Given the description of an element on the screen output the (x, y) to click on. 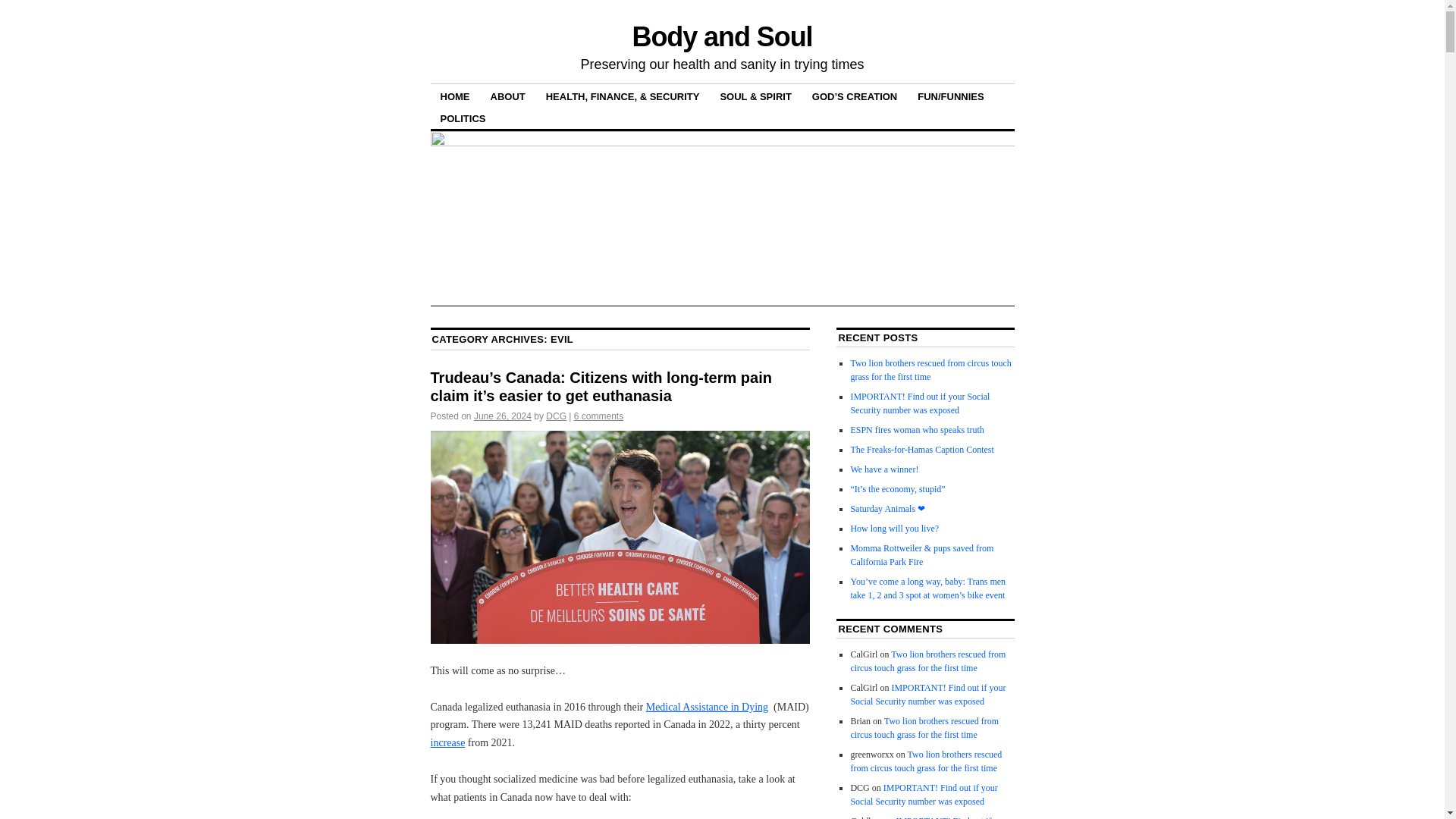
Medical Assistance in Dying (707, 706)
June 26, 2024 (502, 416)
Body and Soul (721, 36)
HOME (455, 96)
Body and Soul (721, 36)
POLITICS (463, 117)
6 comments (598, 416)
increase (447, 742)
View all posts by DCG (556, 416)
DCG (556, 416)
